Given the description of an element on the screen output the (x, y) to click on. 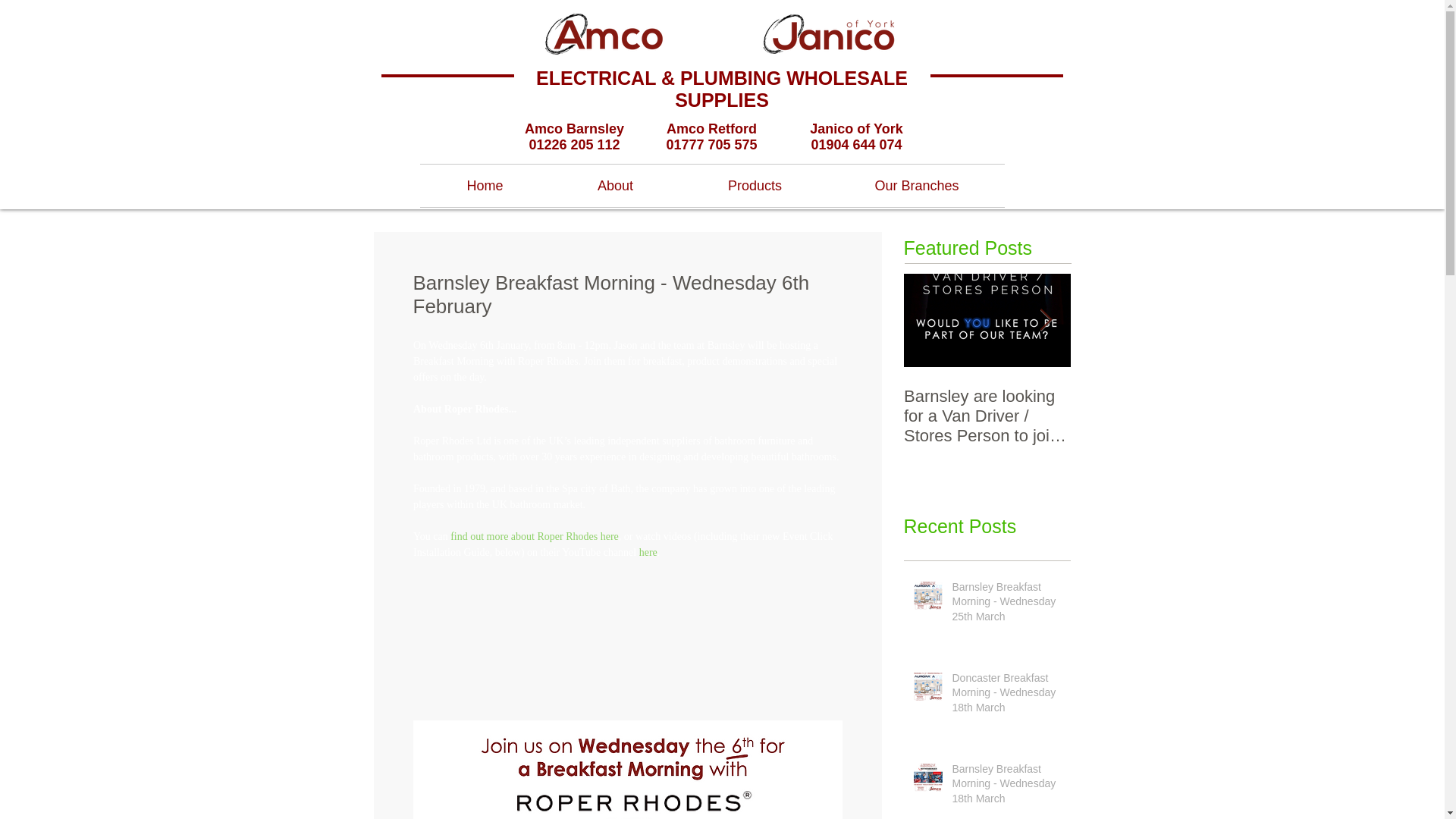
About (615, 185)
find out more about Roper Rhodes here (533, 536)
Our Branches (916, 185)
Home (485, 185)
here (647, 552)
Doncaster - Worksop College Lighting Project (1321, 415)
Barnsley Breakfast Morning - Wednesday 18th March (1006, 787)
Barnsley Breakfast Morning - Wednesday 25th March (1006, 604)
Janico-05.png (827, 33)
Doncaster Breakfast Morning - Wednesday 18th March (1006, 695)
Amco-14.png (603, 33)
ricos-video (627, 618)
